Given the description of an element on the screen output the (x, y) to click on. 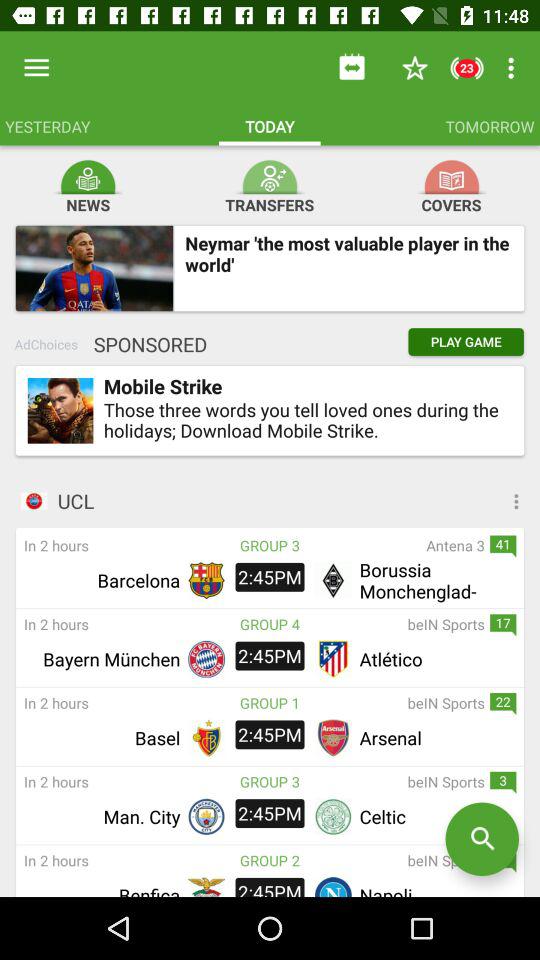
turn on icon above the sponsored (94, 268)
